Given the description of an element on the screen output the (x, y) to click on. 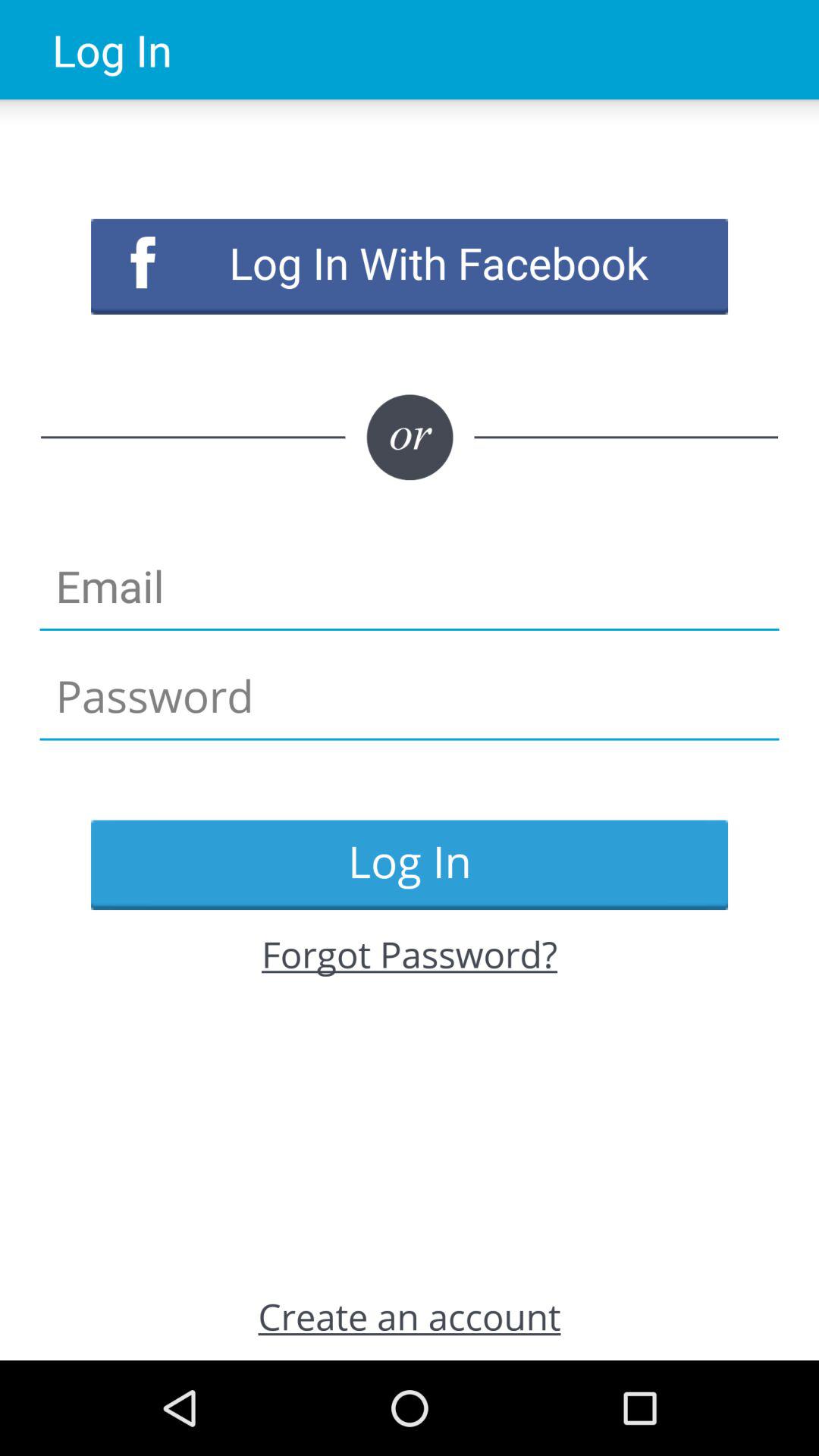
select item below log in icon (409, 953)
